Given the description of an element on the screen output the (x, y) to click on. 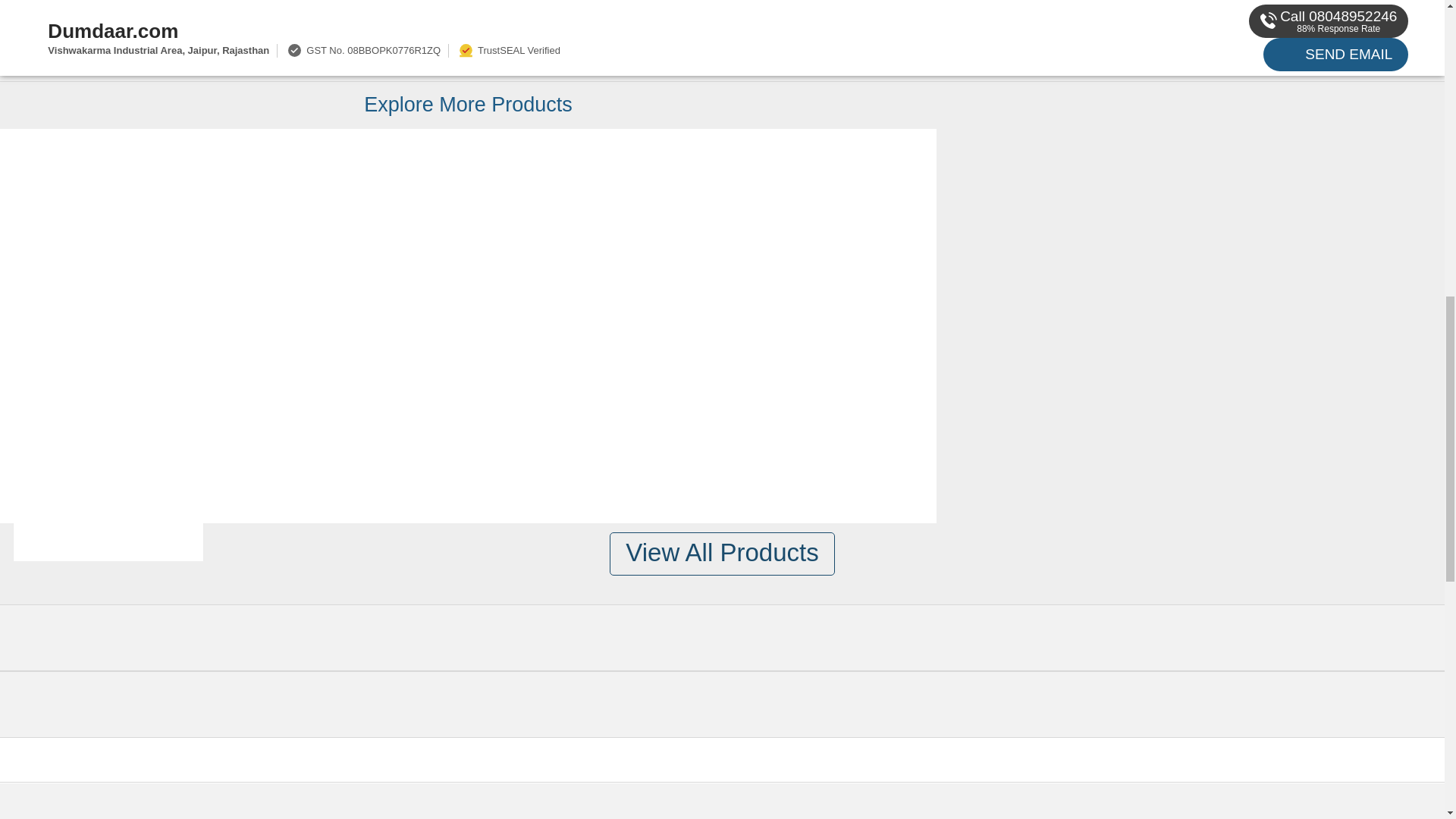
View All Products (722, 553)
